Given the description of an element on the screen output the (x, y) to click on. 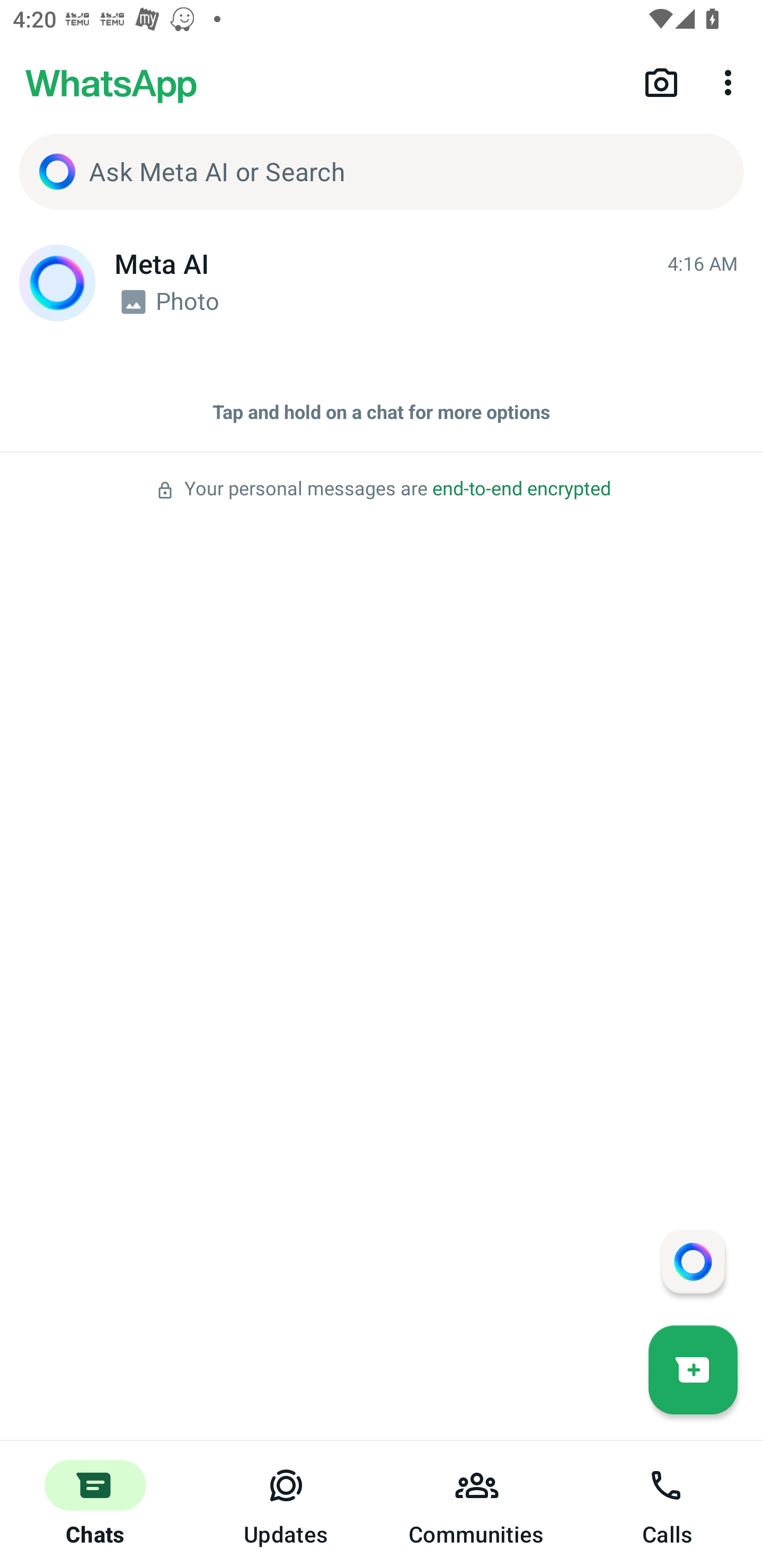
Camera (661, 81)
More options (731, 81)
Meta AI Meta AI 4:16 AM 4:16 AM Photo (381, 282)
Meta AI (57, 282)
end-to-end encrypted (521, 489)
Message your assistant (692, 1261)
New chat (692, 1369)
Updates (285, 1504)
Communities (476, 1504)
Calls (667, 1504)
